Given the description of an element on the screen output the (x, y) to click on. 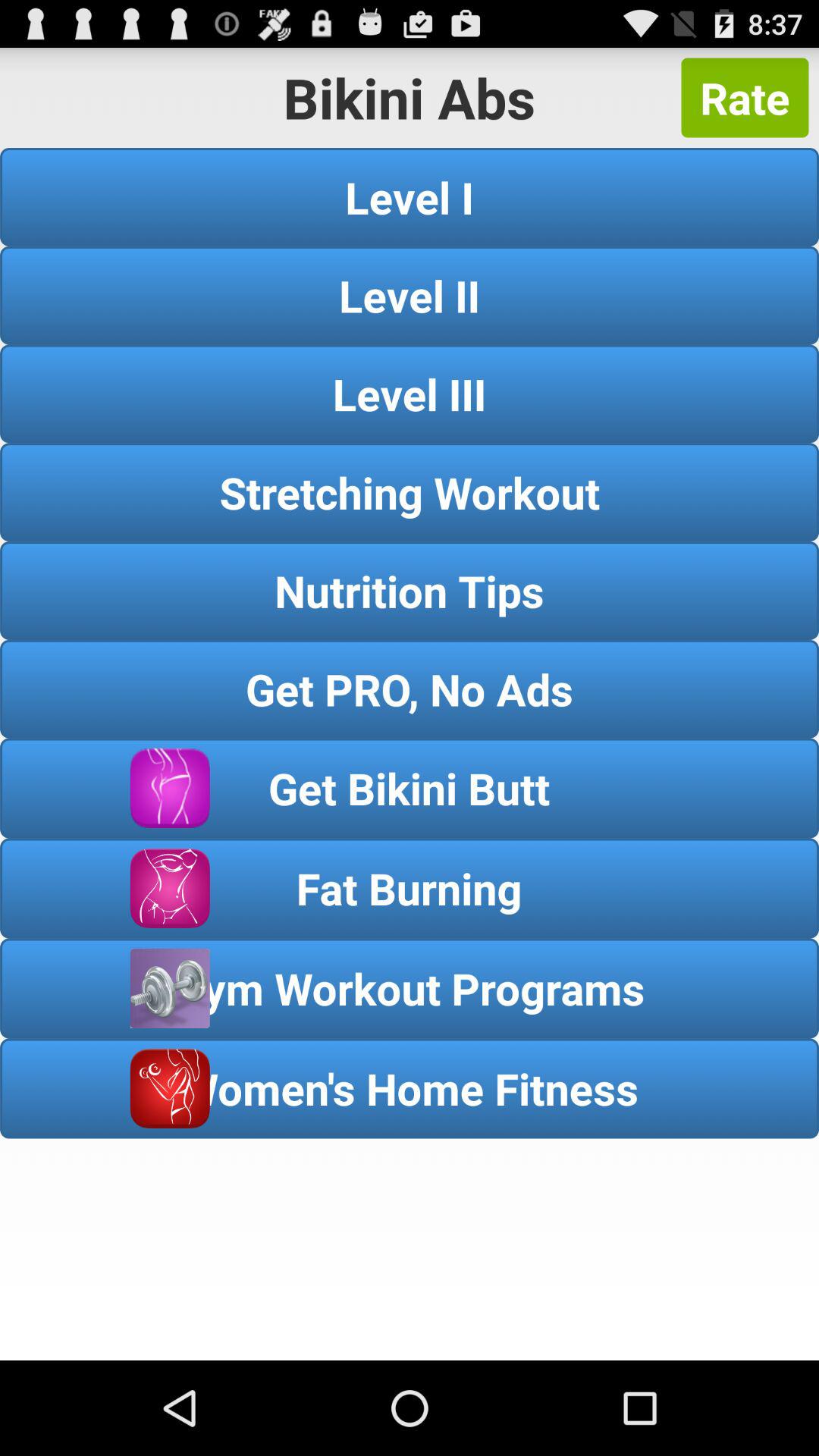
launch button above the get pro no (409, 590)
